Given the description of an element on the screen output the (x, y) to click on. 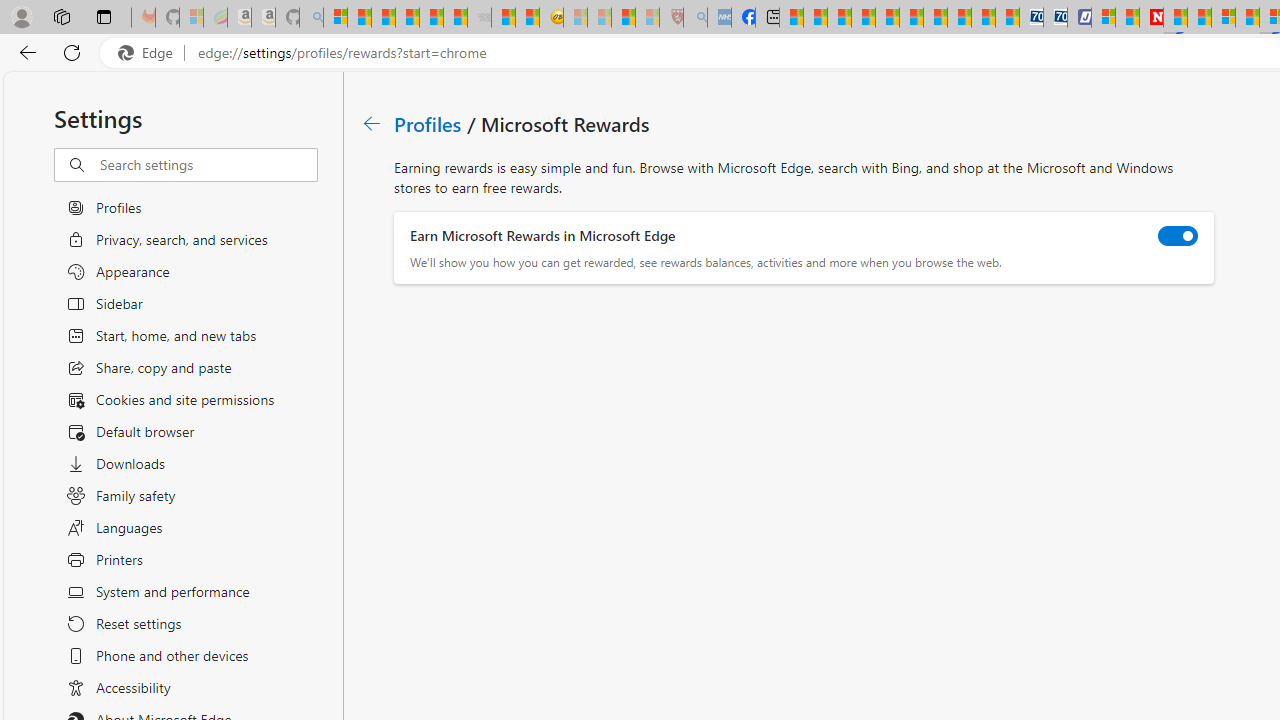
Edge (150, 53)
Earn Microsoft Rewards in Microsoft Edge (1178, 236)
Climate Damage Becomes Too Severe To Reverse (863, 17)
12 Popular Science Lies that Must be Corrected - Sleeping (647, 17)
Latest Politics News & Archive | Newsweek.com (1151, 17)
